Given the description of an element on the screen output the (x, y) to click on. 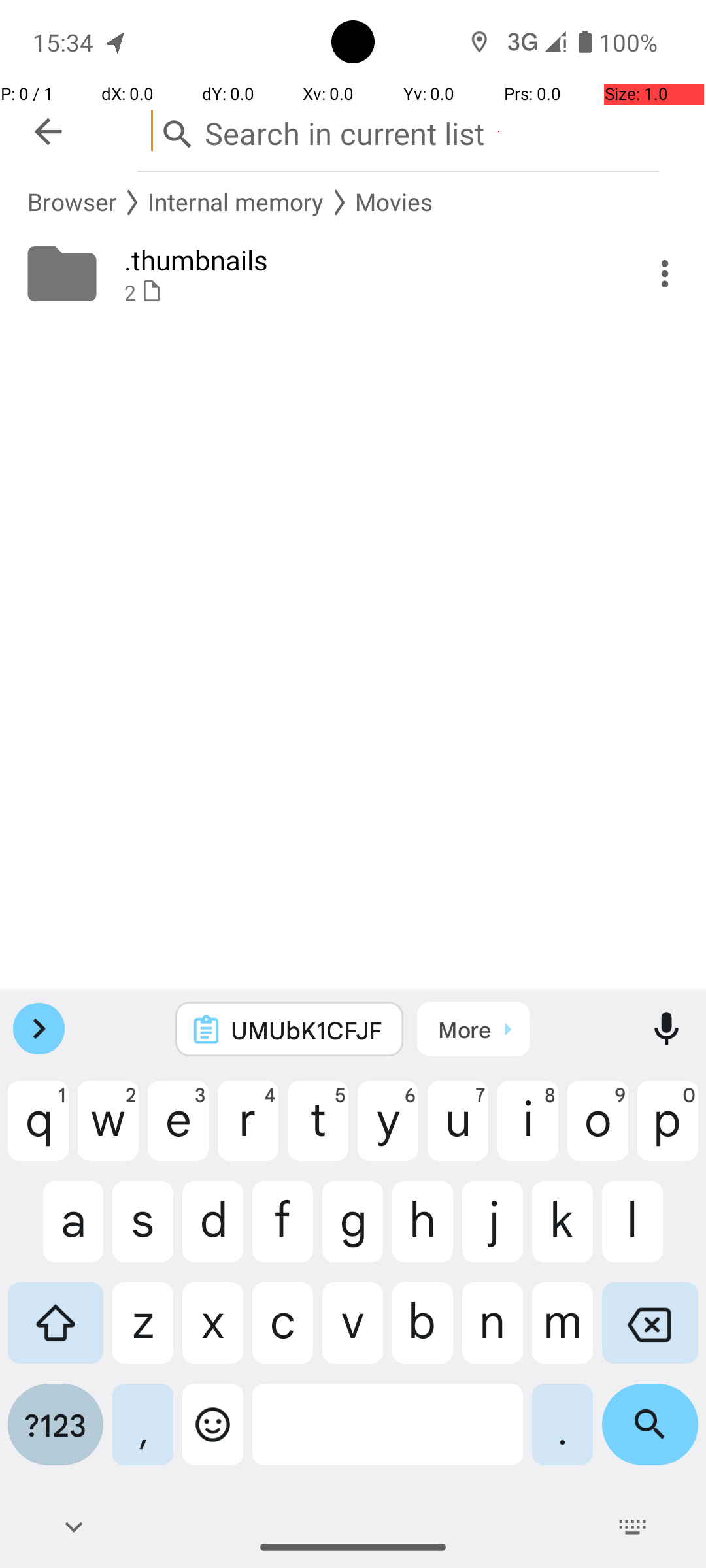
   Search in current list Element type: android.widget.AutoCompleteTextView (397, 130)
Browser Element type: android.widget.TextView (72, 202)
Movies Element type: android.widget.TextView (393, 202)
Folder: .thumbnails, 2 media files Element type: android.view.ViewGroup (353, 273)
.thumbnails Element type: android.widget.TextView (366, 259)
2 *§* Element type: android.widget.TextView (366, 292)
More Actions Element type: android.widget.ImageView (664, 273)
